Given the description of an element on the screen output the (x, y) to click on. 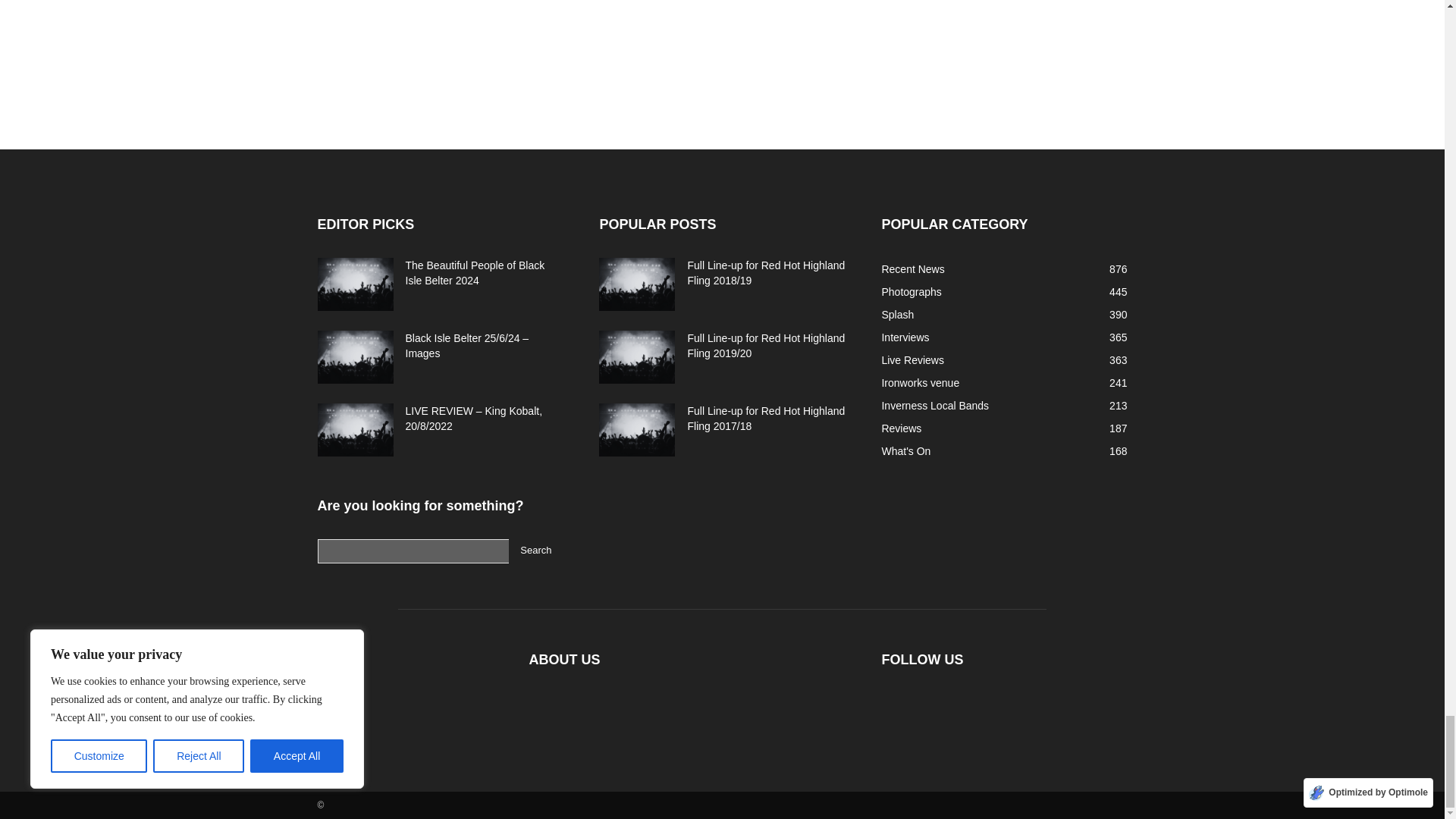
Search (535, 550)
